Given the description of an element on the screen output the (x, y) to click on. 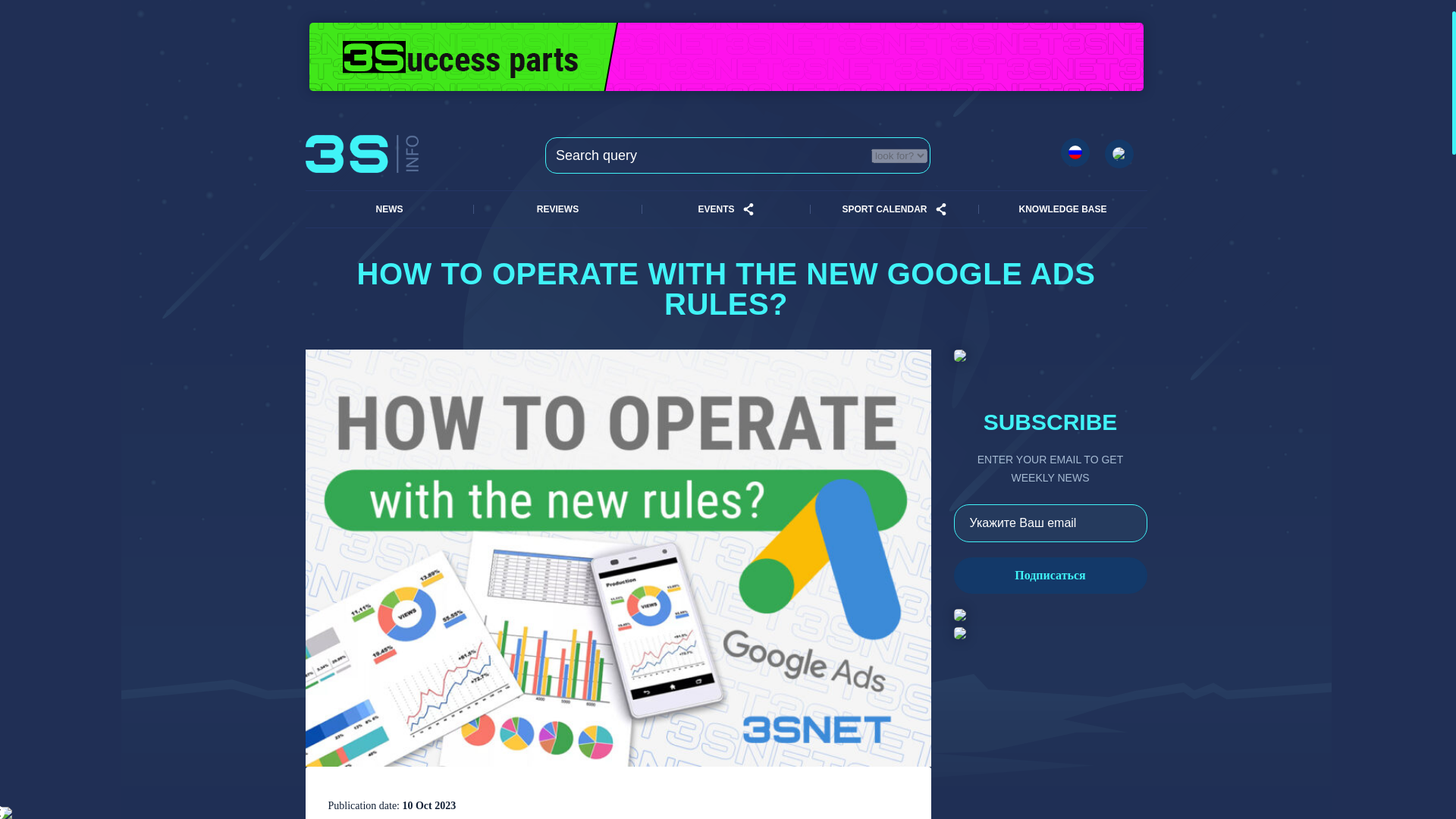
KNOWLEDGE BASE (1062, 208)
REVIEWS (557, 208)
NEWS (388, 208)
SPORT CALENDAR (883, 208)
EVENTS (715, 208)
